Given the description of an element on the screen output the (x, y) to click on. 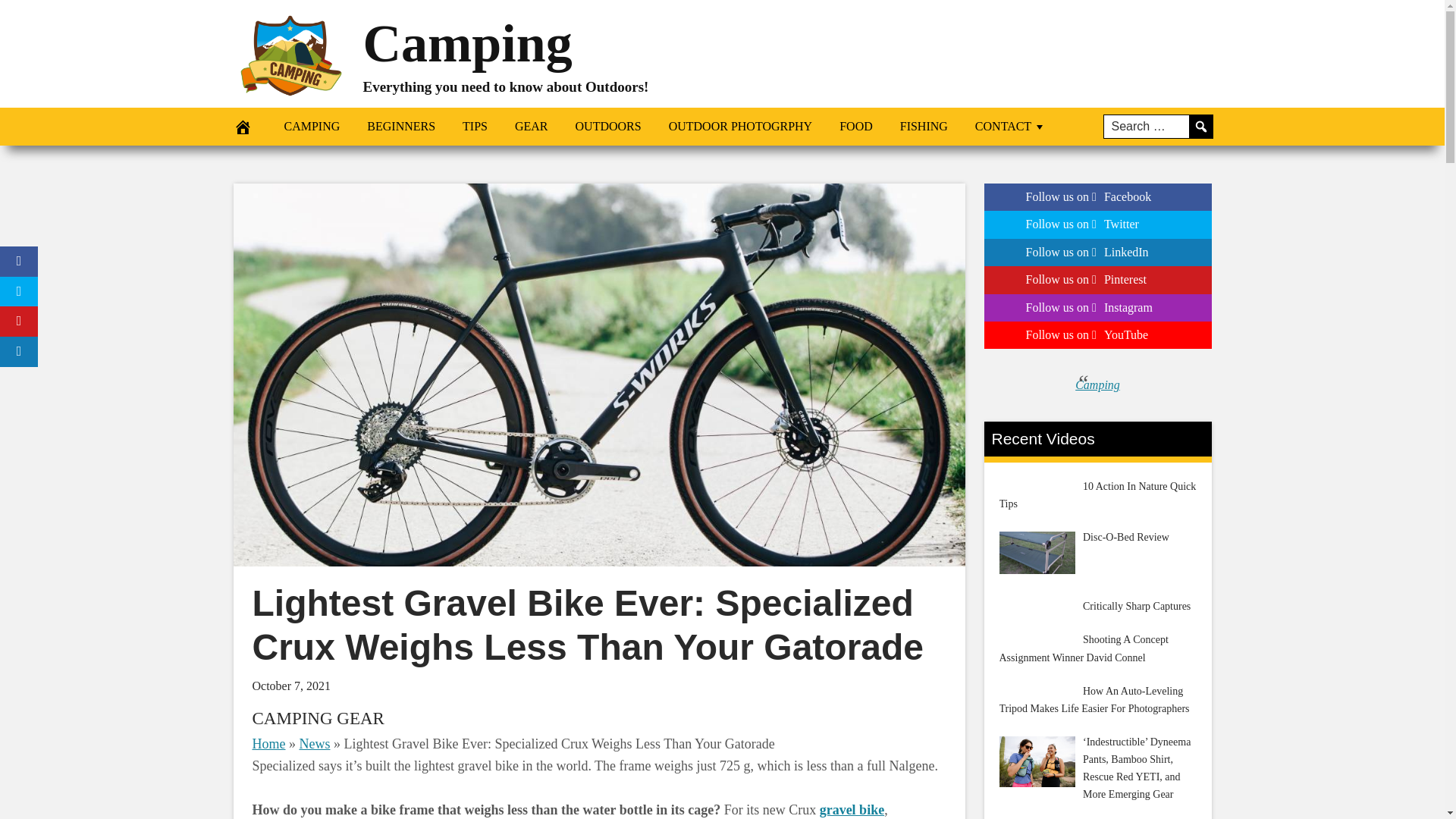
CONTACT (1009, 126)
CAMPING GEAR (317, 718)
TIPS (474, 126)
GEAR (531, 126)
BEGINNERS (400, 126)
Camping (467, 43)
FISHING (923, 126)
CAMPING (311, 126)
OUTDOOR PHOTOGRPHY (741, 126)
FOOD (855, 126)
OUTDOORS (608, 126)
